Given the description of an element on the screen output the (x, y) to click on. 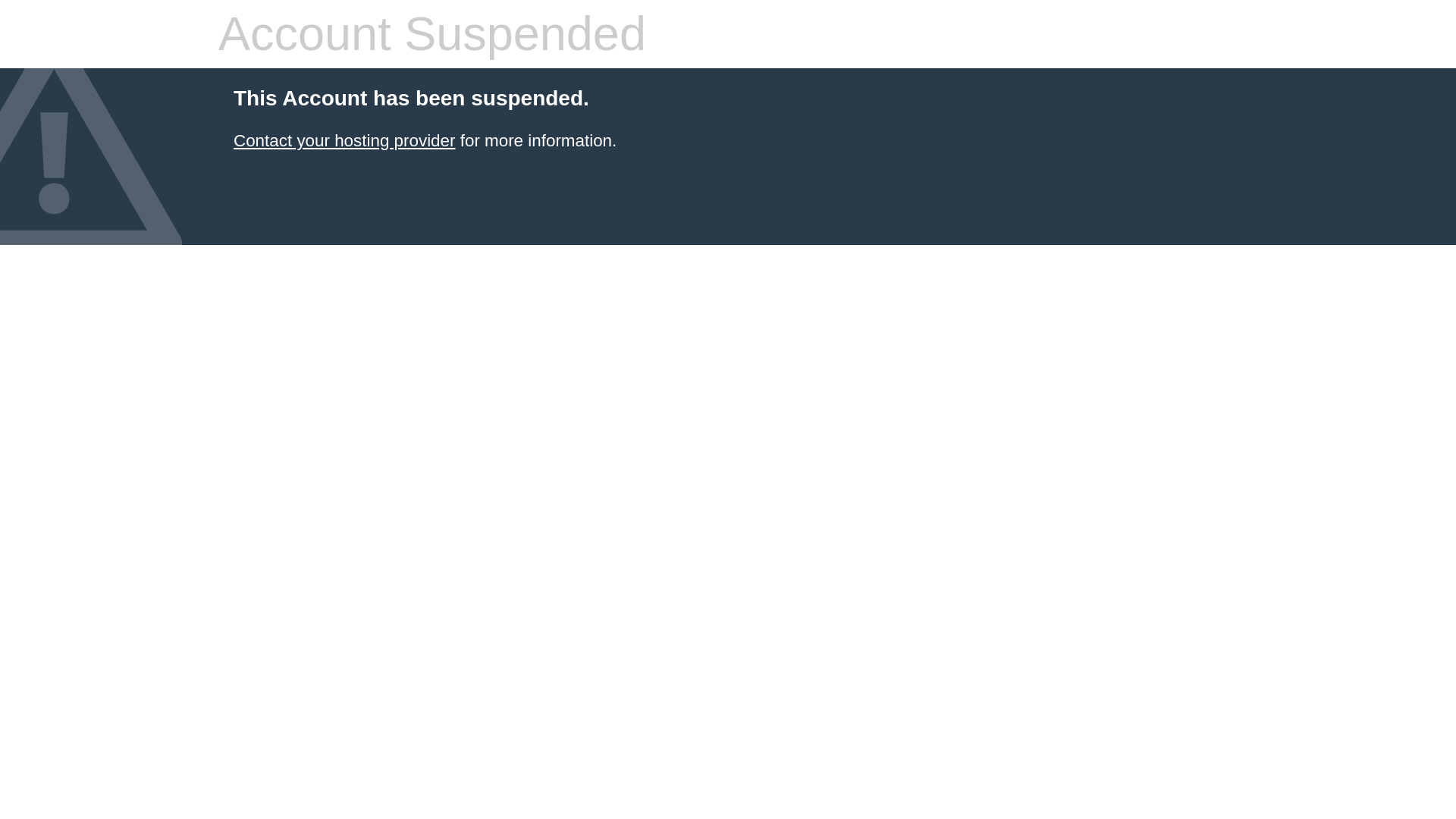
Contact your hosting provider (343, 140)
